Given the description of an element on the screen output the (x, y) to click on. 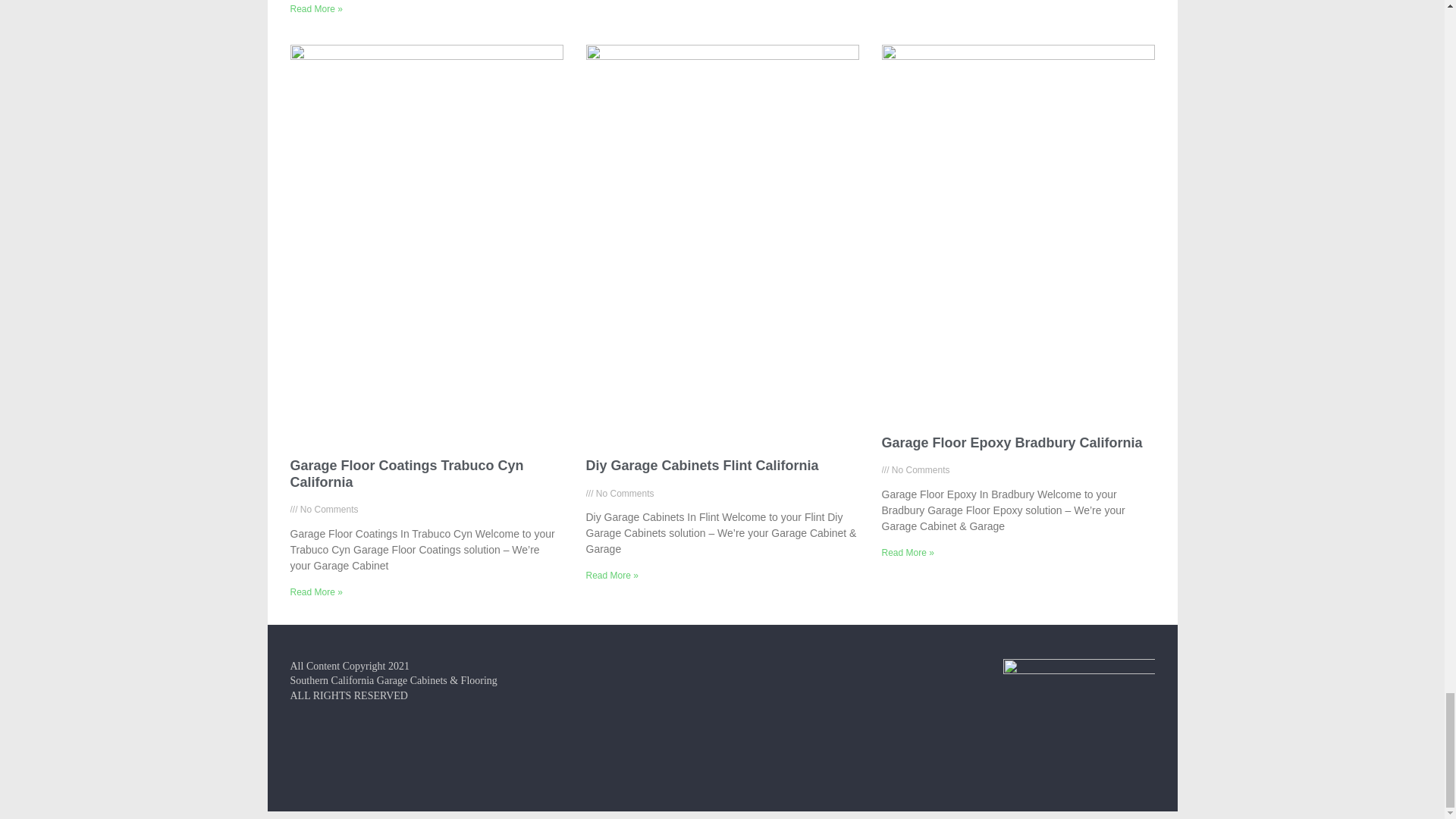
Garage Floor Coatings Trabuco Cyn California (405, 473)
Garage Floor Epoxy Bradbury California (1010, 442)
Diy Garage Cabinets Flint California (701, 465)
